Given the description of an element on the screen output the (x, y) to click on. 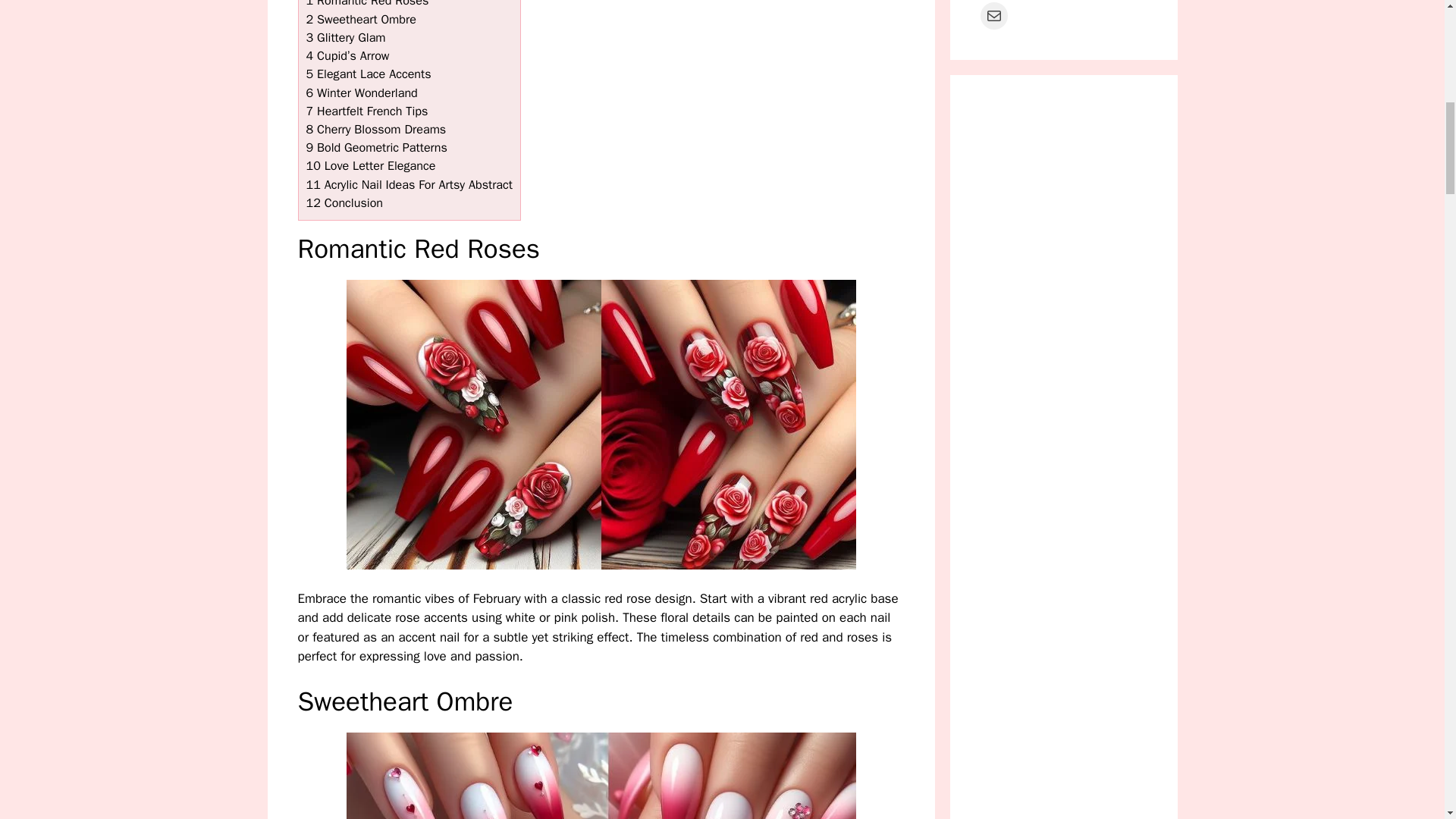
1 Romantic Red Roses (367, 4)
BeeautyLish (1063, 446)
Scroll back to top (1406, 720)
